Given the description of an element on the screen output the (x, y) to click on. 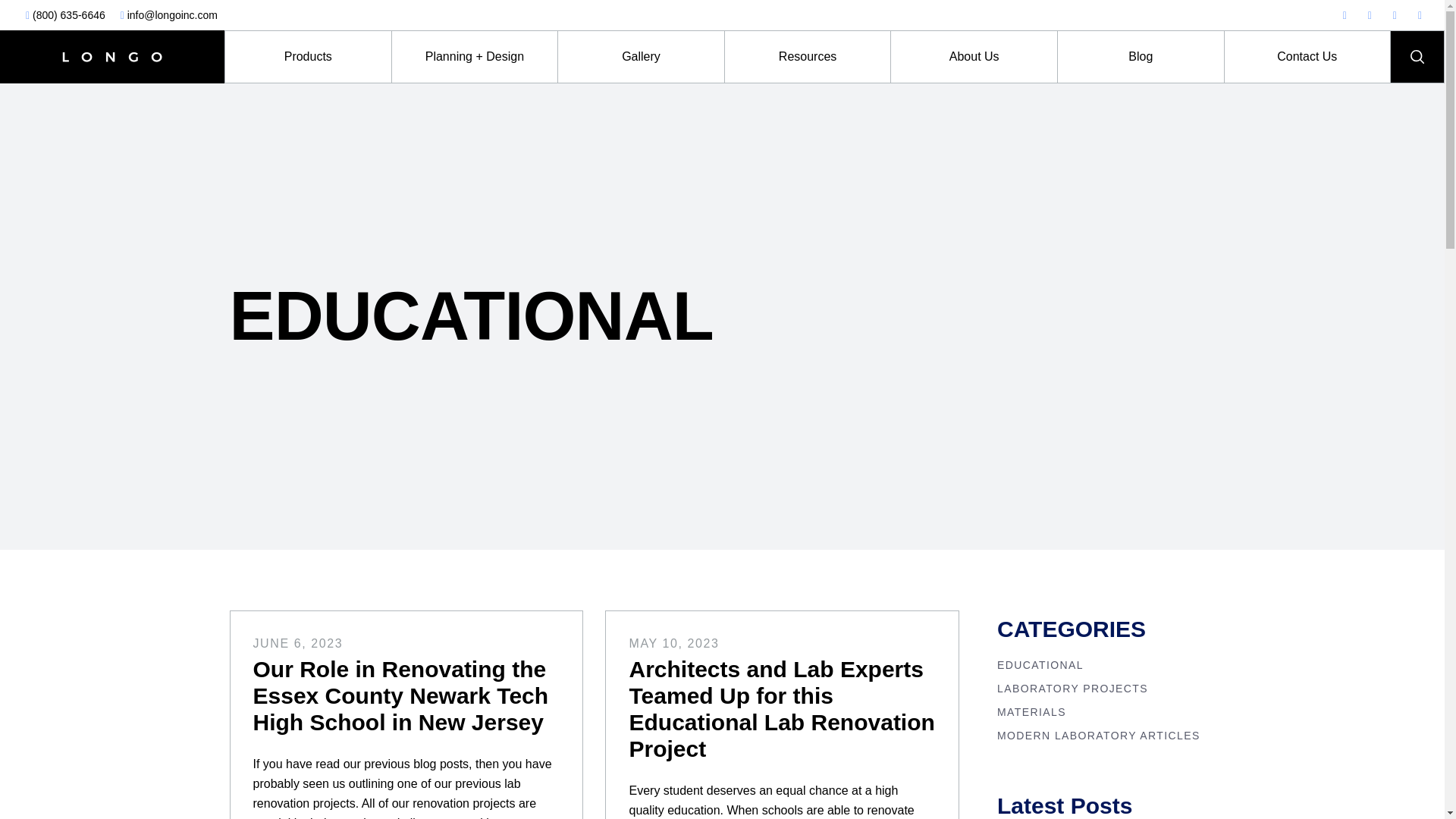
Contact Us (1307, 56)
MAY 10, 2023 (673, 643)
About Us (974, 56)
Blog (1141, 56)
Resources (808, 56)
Gallery (640, 56)
Products (308, 56)
